Given the description of an element on the screen output the (x, y) to click on. 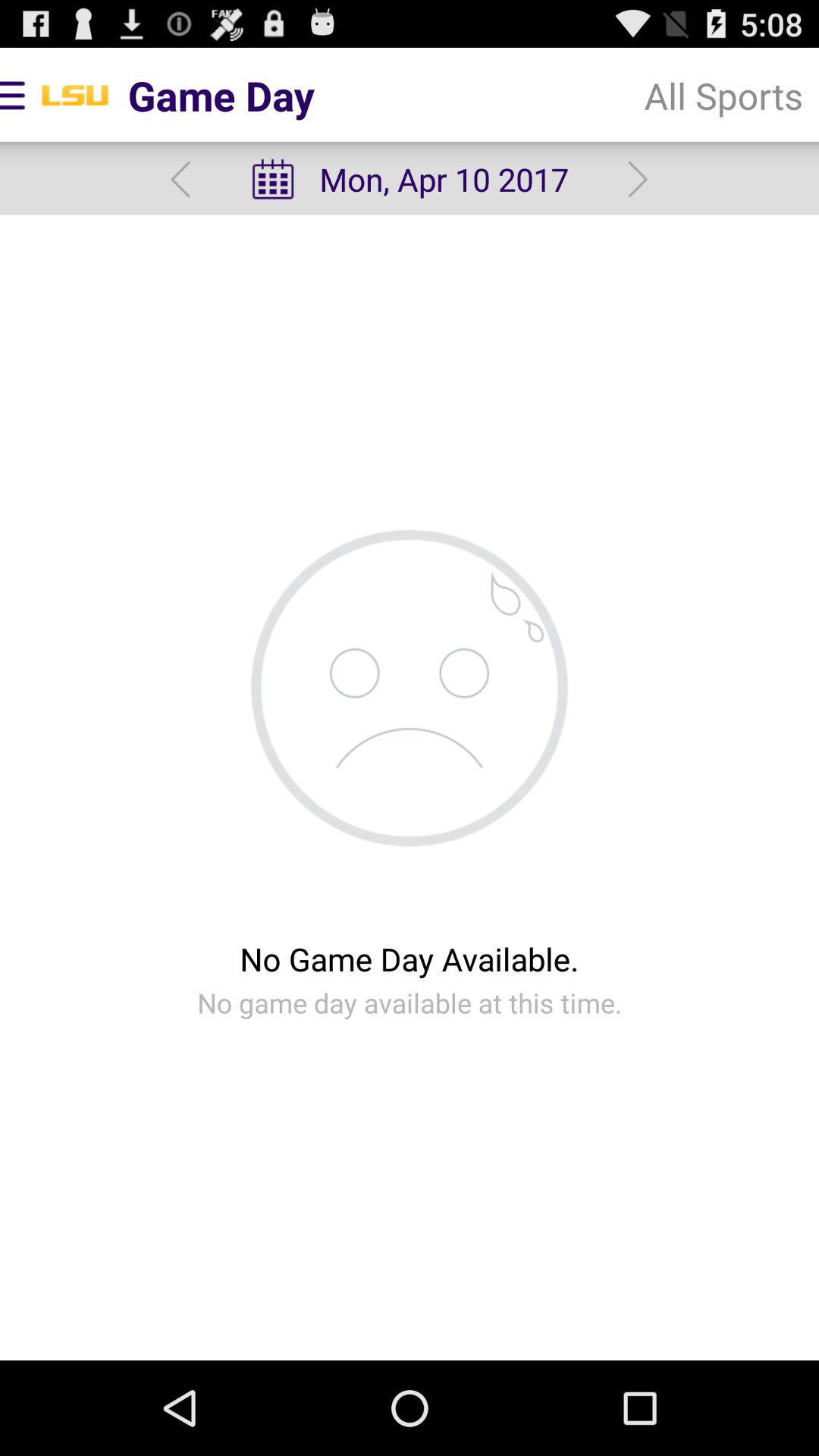
press the item to the right of mon apr 10 (723, 95)
